Given the description of an element on the screen output the (x, y) to click on. 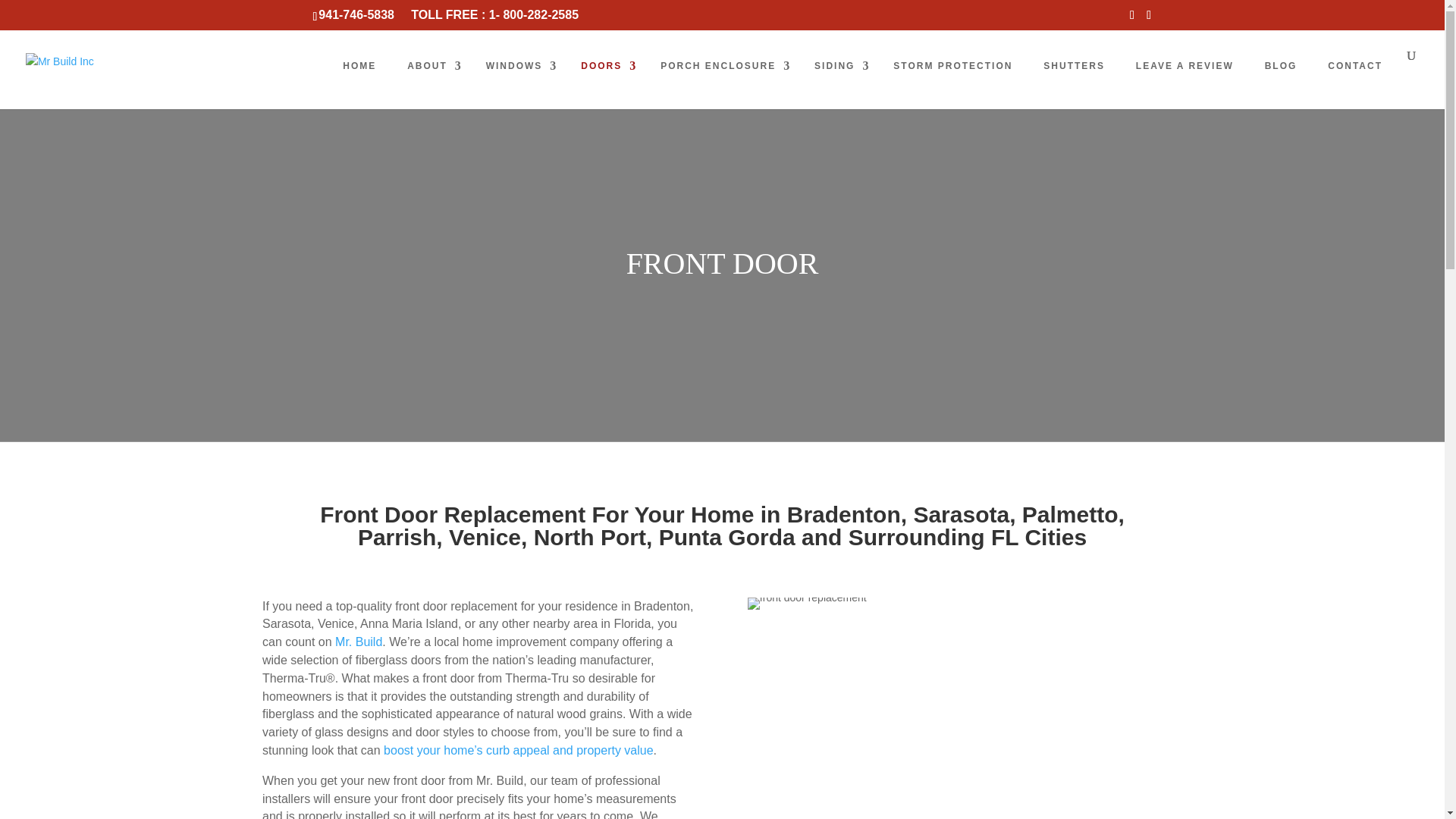
DOORS (606, 65)
941-746-5838 (356, 14)
SIDING (839, 65)
PORCH ENCLOSURE (723, 65)
BLOG (1282, 65)
Mr. Build (357, 641)
1- 800-282-2585 (533, 14)
CONTACT (1356, 65)
LEAVE A REVIEW (1186, 65)
ABOUT (433, 65)
STORM PROTECTION (954, 65)
SHUTTERS (1075, 65)
1-1 (807, 603)
WINDOWS (519, 65)
HOME (361, 65)
